Given the description of an element on the screen output the (x, y) to click on. 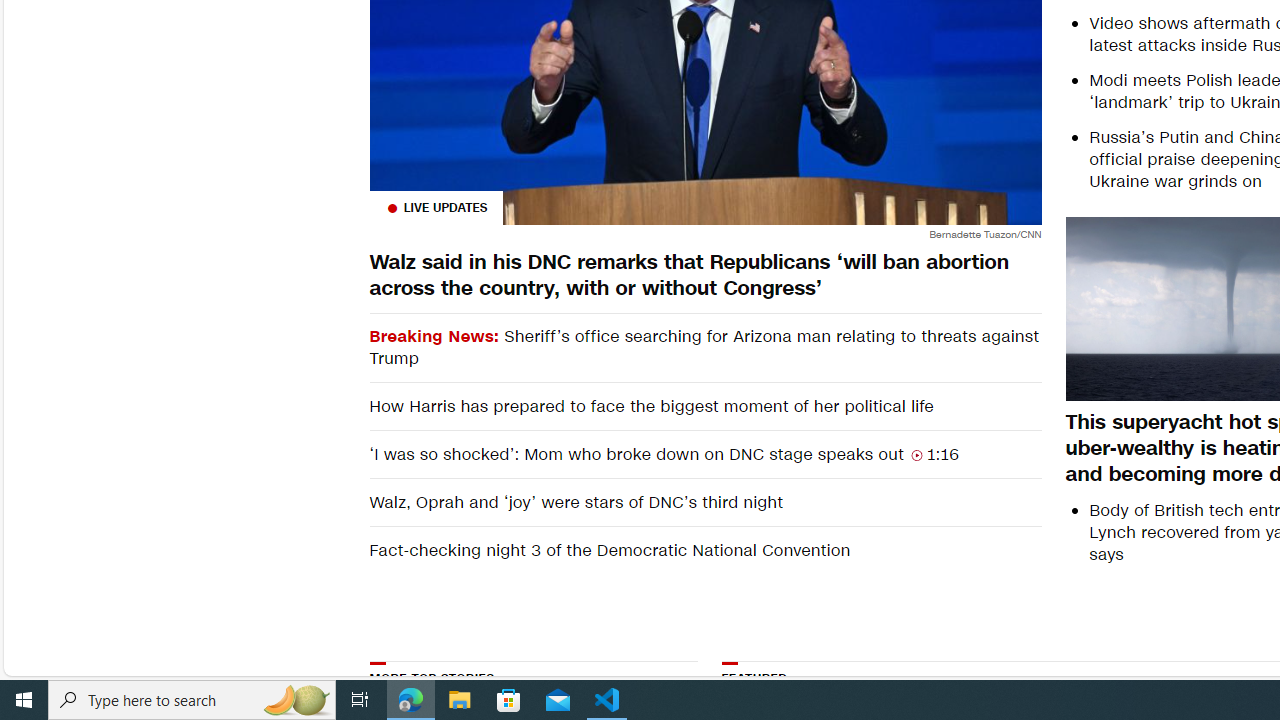
Fact-checking night 3 of the Democratic National Convention (704, 550)
Class: container__video-duration-icon (916, 454)
